Given the description of an element on the screen output the (x, y) to click on. 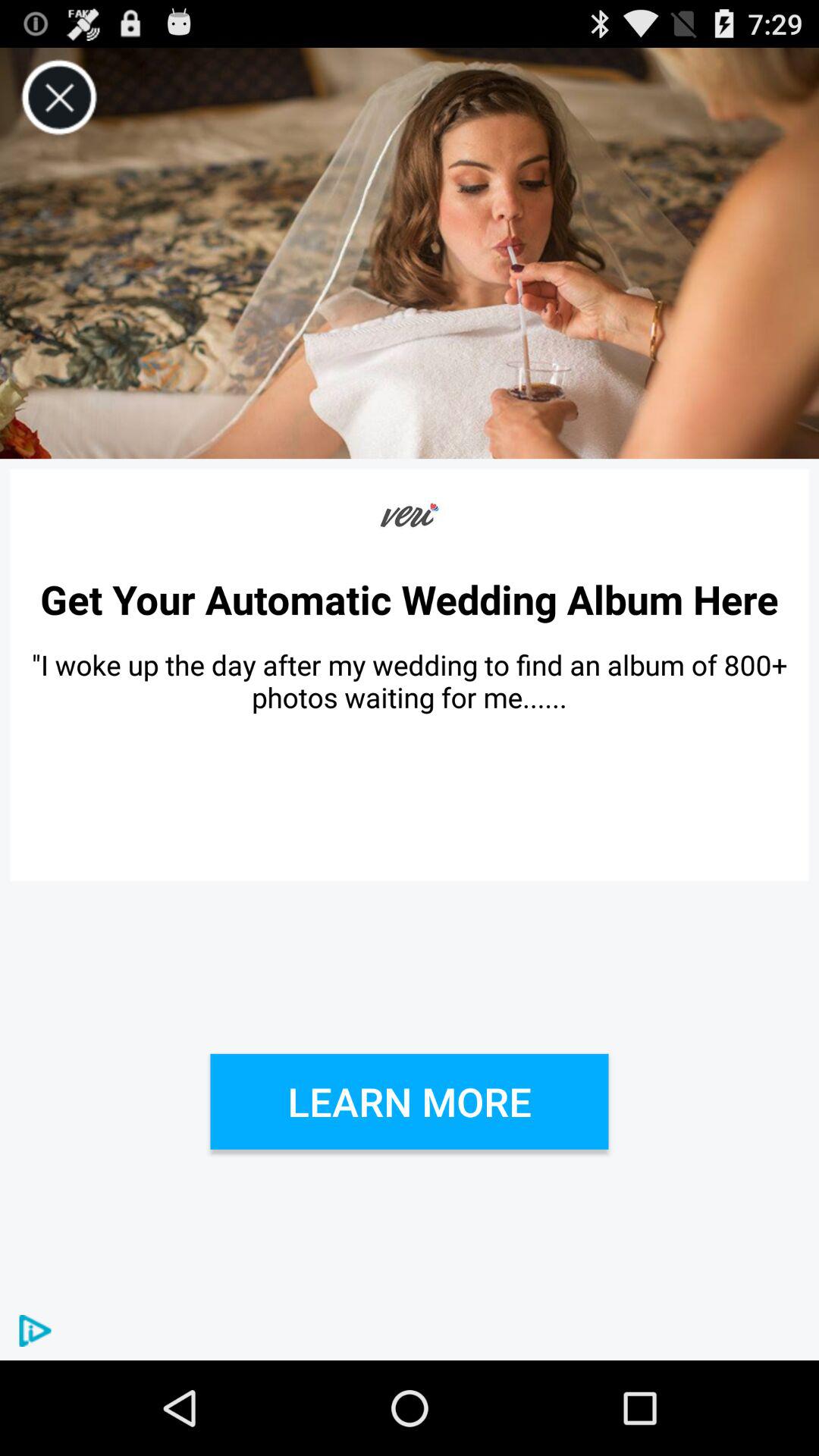
launch get your automatic item (409, 598)
